Given the description of an element on the screen output the (x, y) to click on. 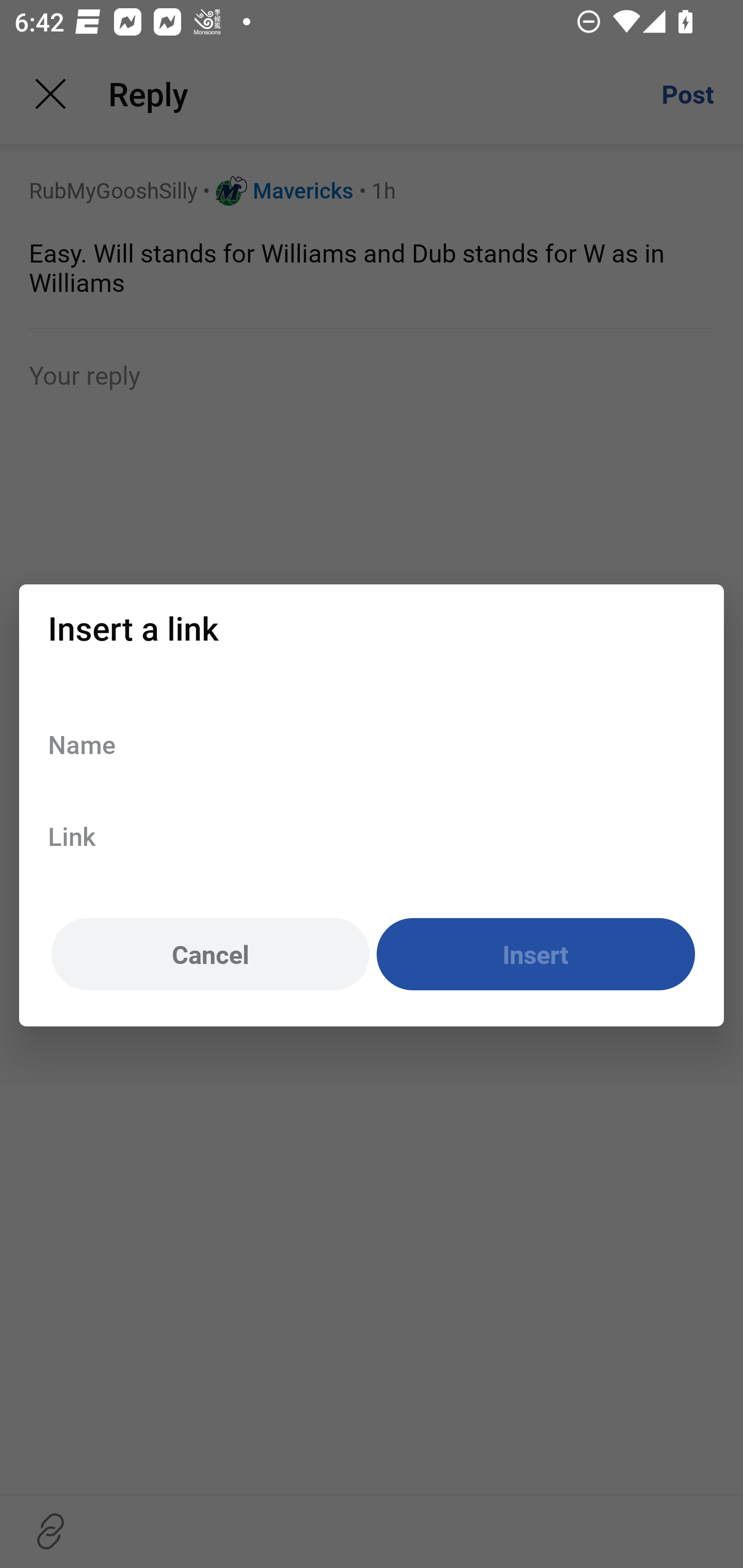
Name (371, 743)
Link (371, 835)
Cancel (210, 954)
Insert (535, 954)
